Given the description of an element on the screen output the (x, y) to click on. 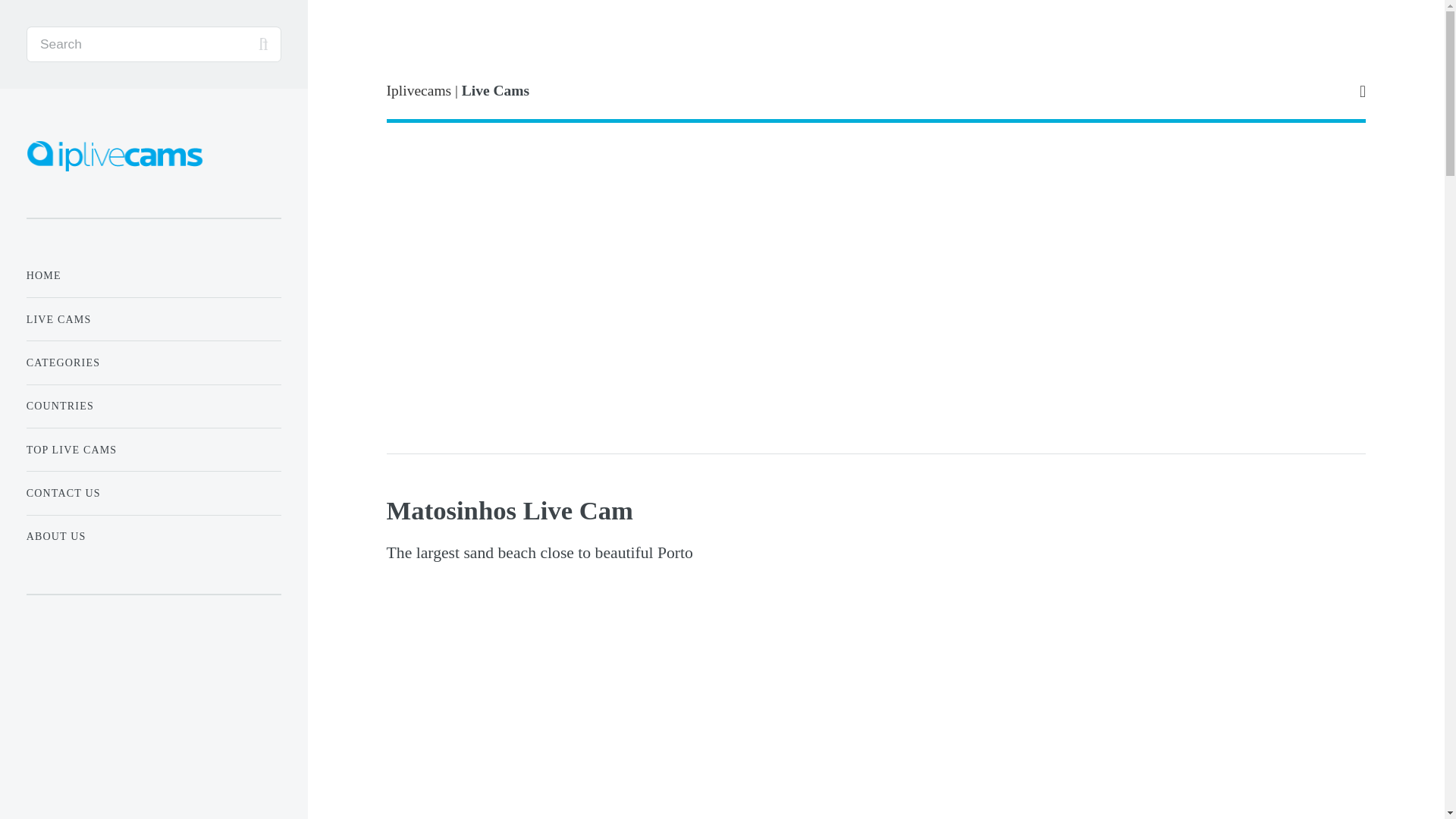
CONTACT US (153, 492)
LIVE CAMS (153, 318)
ABOUT US (153, 536)
Advertisement (153, 727)
HOME (153, 276)
IP Live Cams (117, 155)
COUNTRIES (153, 405)
CATEGORIES (153, 362)
TOP LIVE CAMS (153, 450)
